Given the description of an element on the screen output the (x, y) to click on. 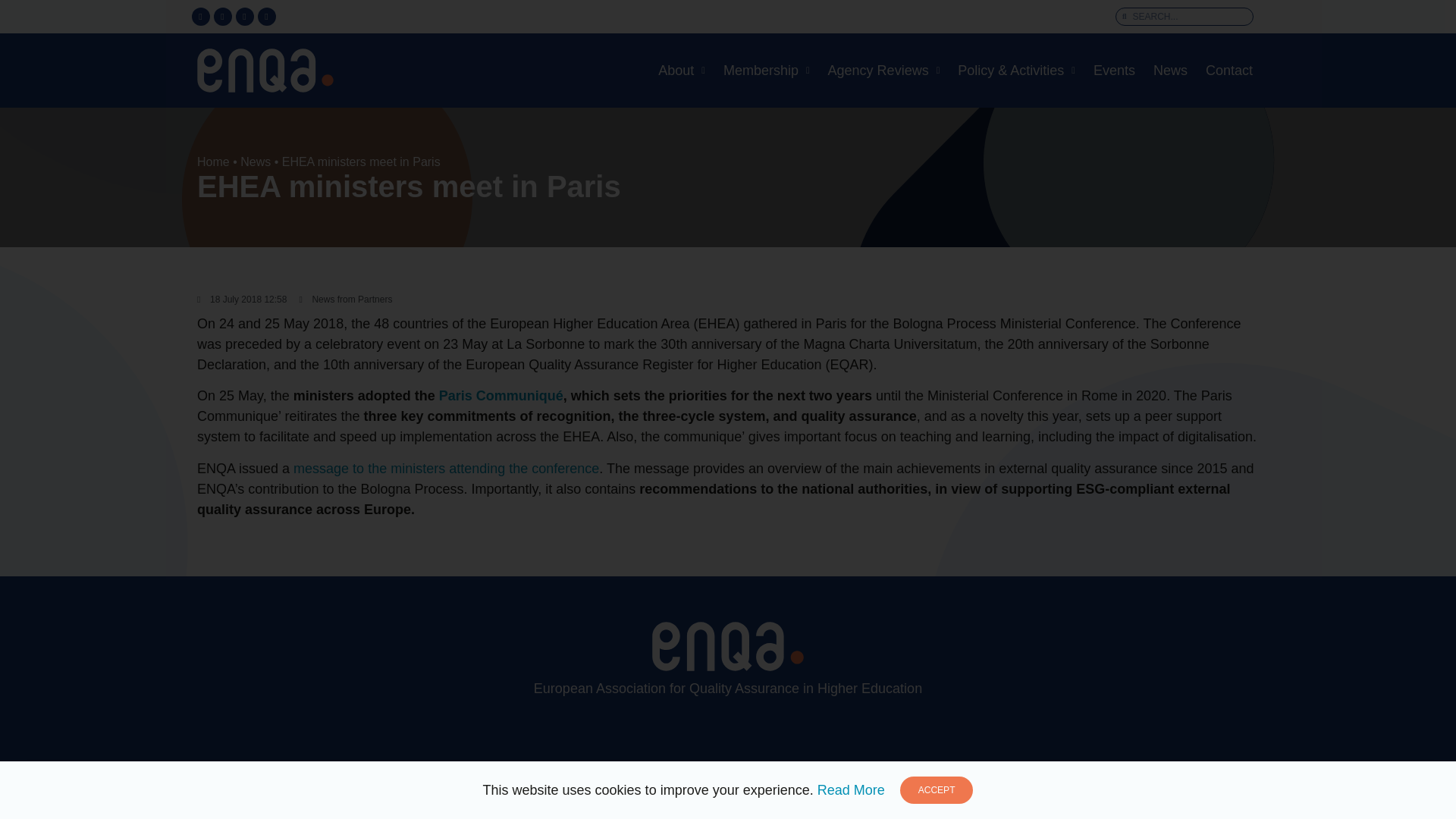
Contact (1229, 70)
News (1170, 70)
Events (1114, 70)
Membership (766, 70)
About (681, 70)
Agency Reviews (884, 70)
